Given the description of an element on the screen output the (x, y) to click on. 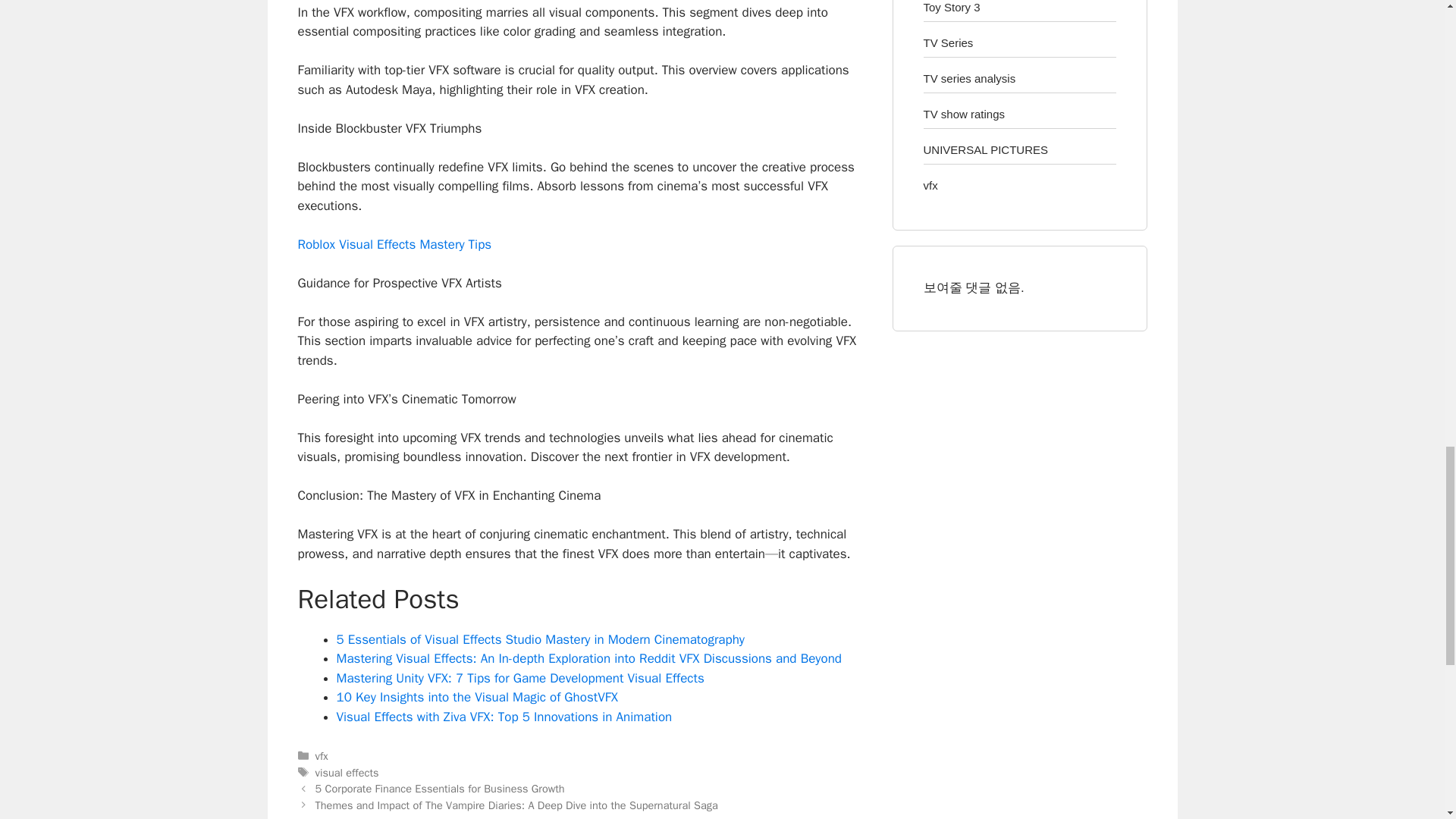
visual effects (346, 772)
Visual Effects with Ziva VFX: Top 5 Innovations in Animation (504, 716)
10 Key Insights into the Visual Magic of GhostVFX (476, 697)
5 Corporate Finance Essentials for Business Growth (439, 788)
vfx (322, 755)
Roblox Visual Effects Mastery Tips (394, 244)
